Given the description of an element on the screen output the (x, y) to click on. 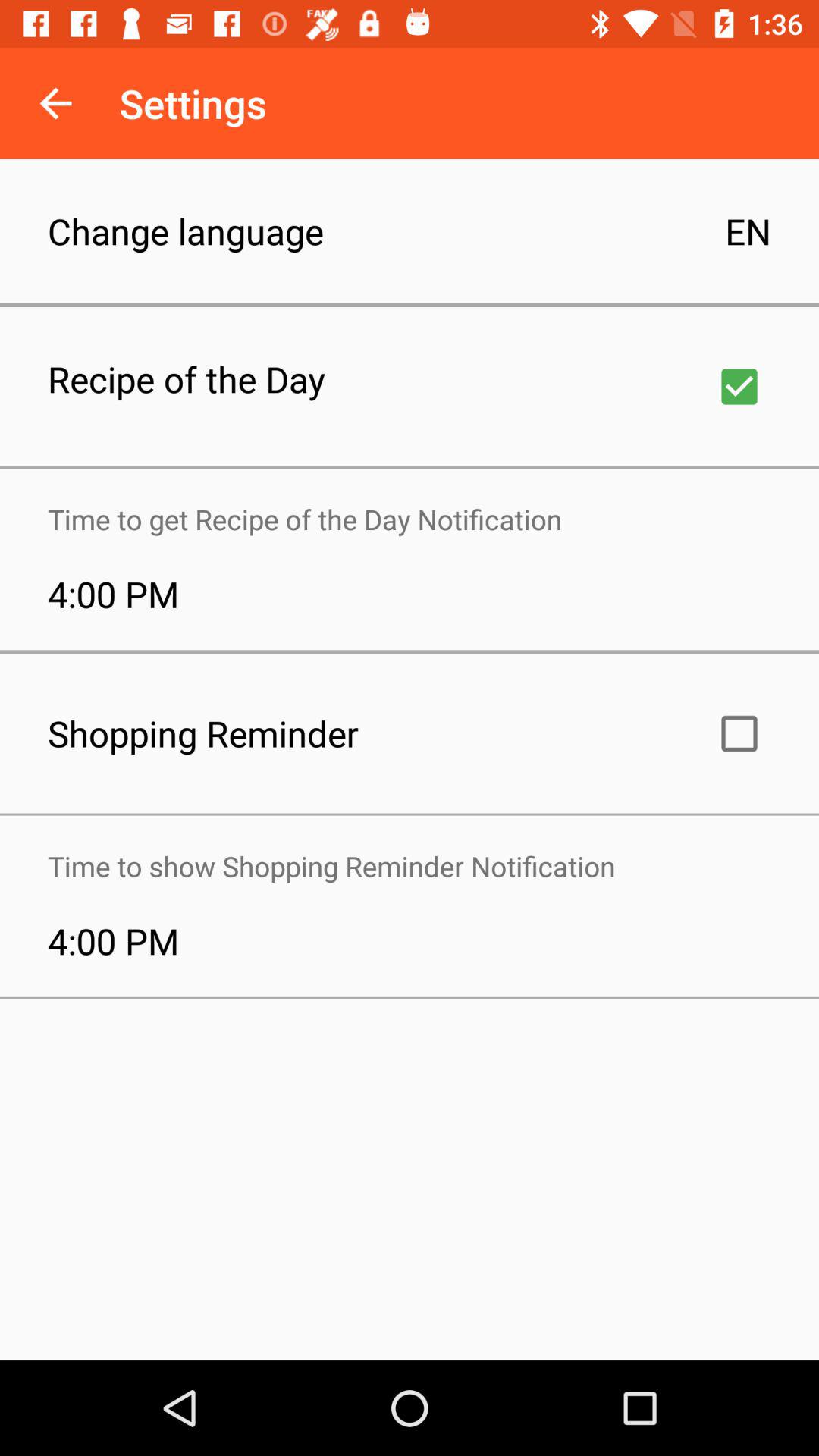
press icon to the left of settings (55, 103)
